Given the description of an element on the screen output the (x, y) to click on. 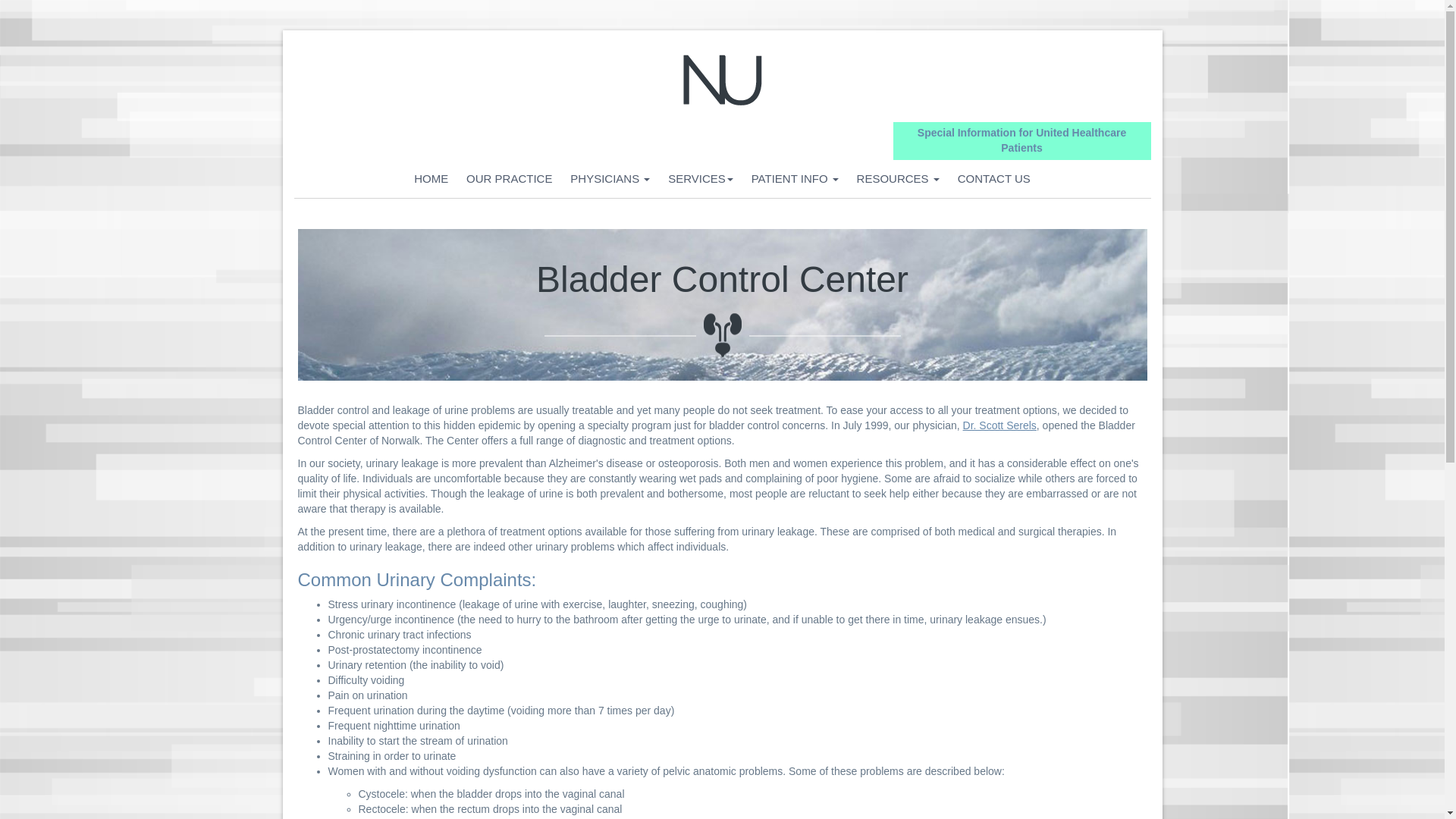
CONTACT US (994, 178)
Special Information for United Healthcare Patients (1021, 139)
SERVICES (701, 178)
OUR PRACTICE (508, 178)
Dr. Scott Serels (999, 425)
PATIENT INFO (794, 178)
HOME (430, 178)
PHYSICIANS (610, 178)
RESOURCES (897, 178)
